Given the description of an element on the screen output the (x, y) to click on. 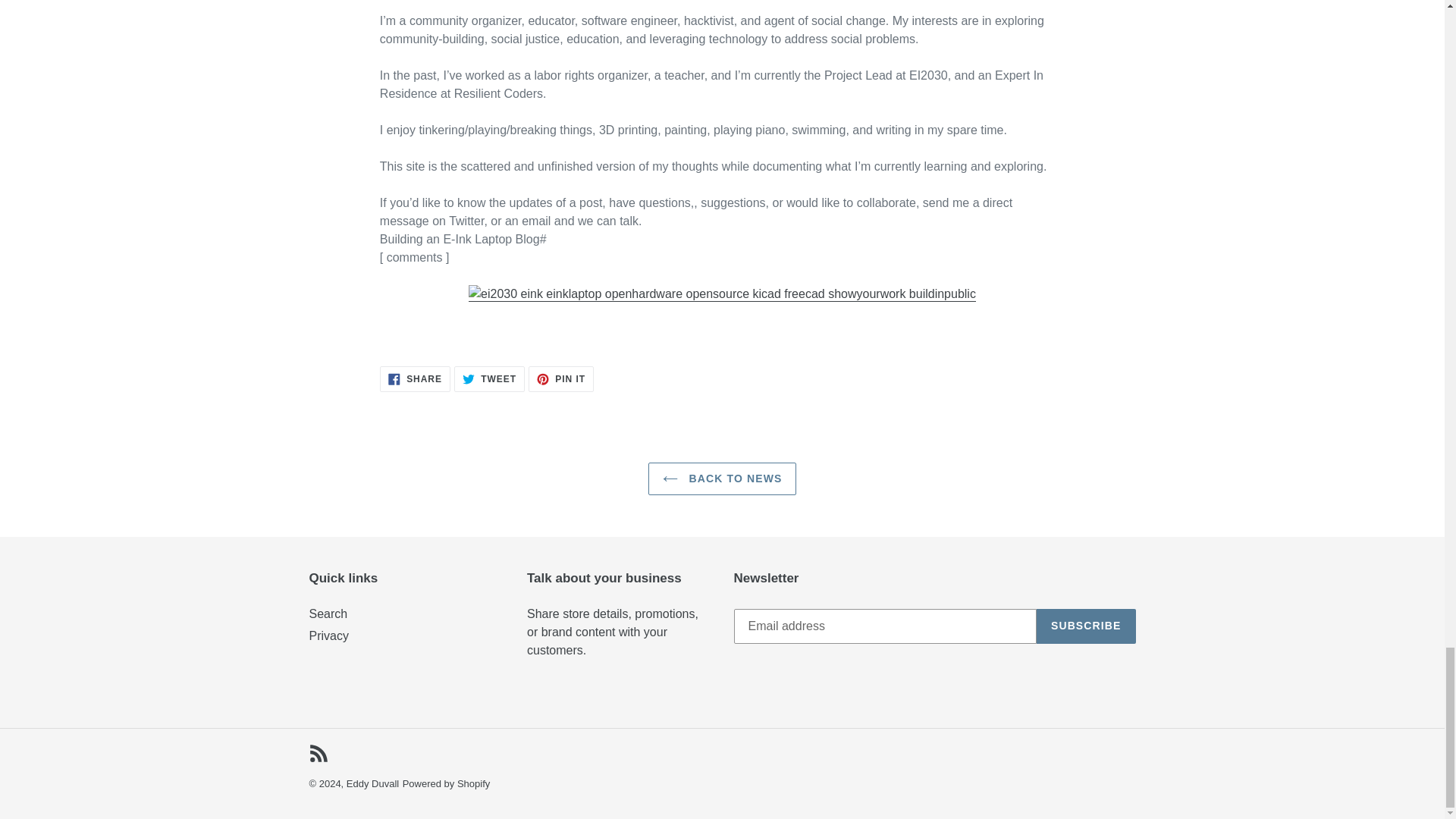
BACK TO NEWS (489, 379)
Search (561, 379)
SUBSCRIBE (721, 478)
Privacy (327, 613)
Eddy Duvall (1085, 626)
Powered by Shopify (328, 635)
RSS (372, 783)
